Given the description of an element on the screen output the (x, y) to click on. 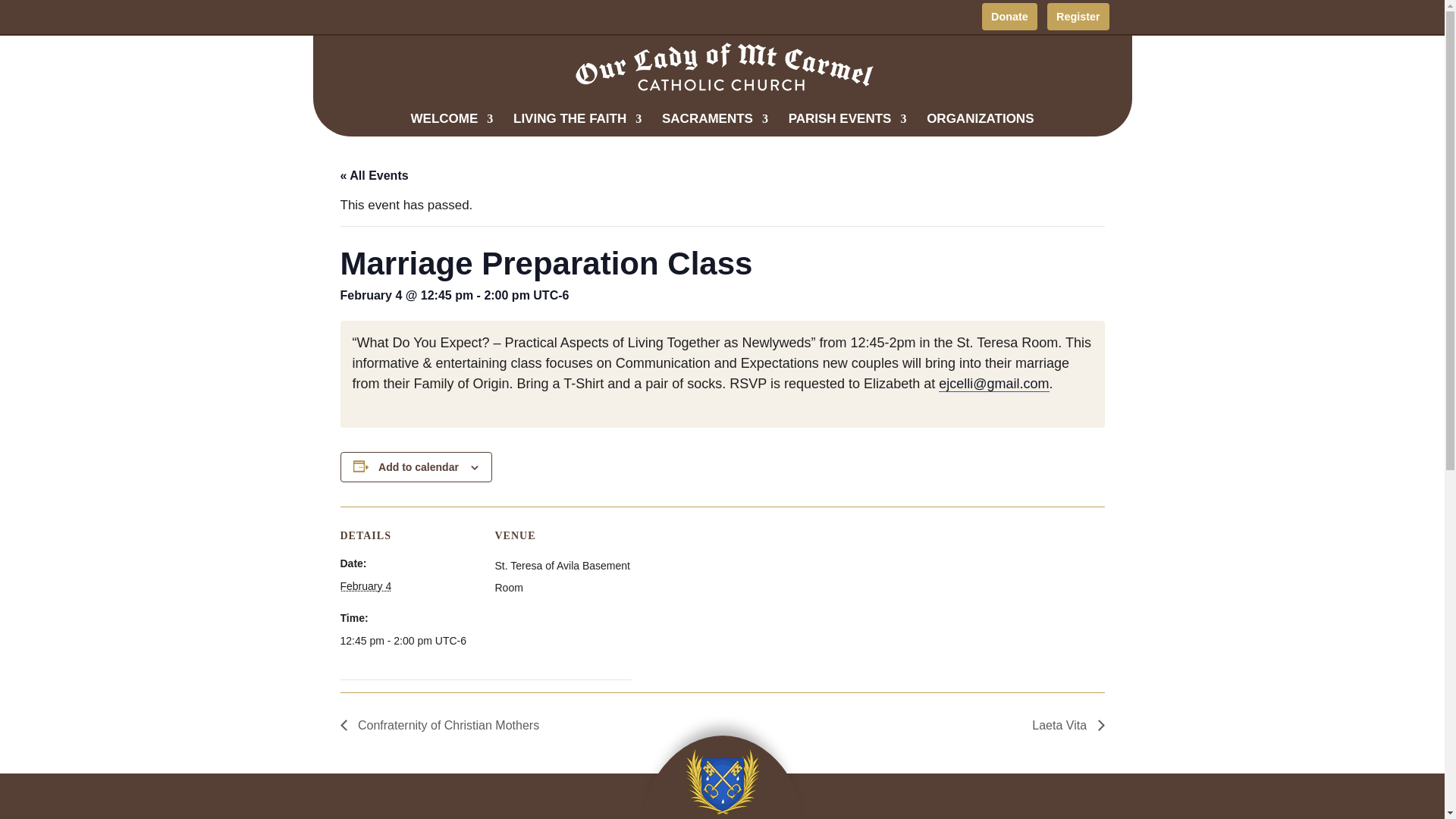
Donate (1008, 16)
SACRAMENTS (715, 124)
PARISH EVENTS (848, 124)
2024-02-04 (407, 640)
Register (1077, 16)
LIVING THE FAITH (577, 124)
WELCOME (451, 124)
2024-02-04 (365, 585)
ORGANIZATIONS (979, 124)
